Given the description of an element on the screen output the (x, y) to click on. 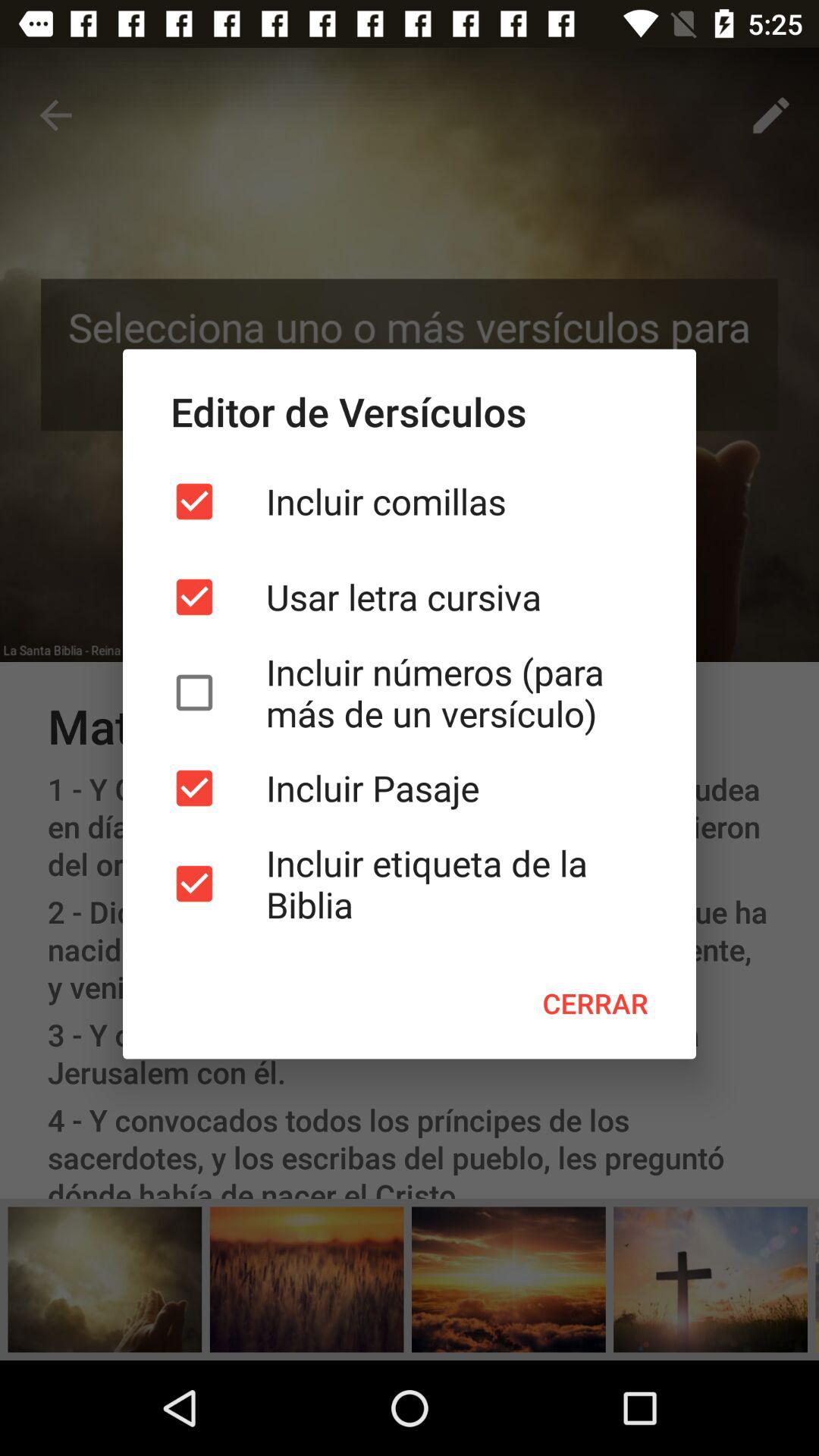
flip until incluir comillas item (409, 501)
